Given the description of an element on the screen output the (x, y) to click on. 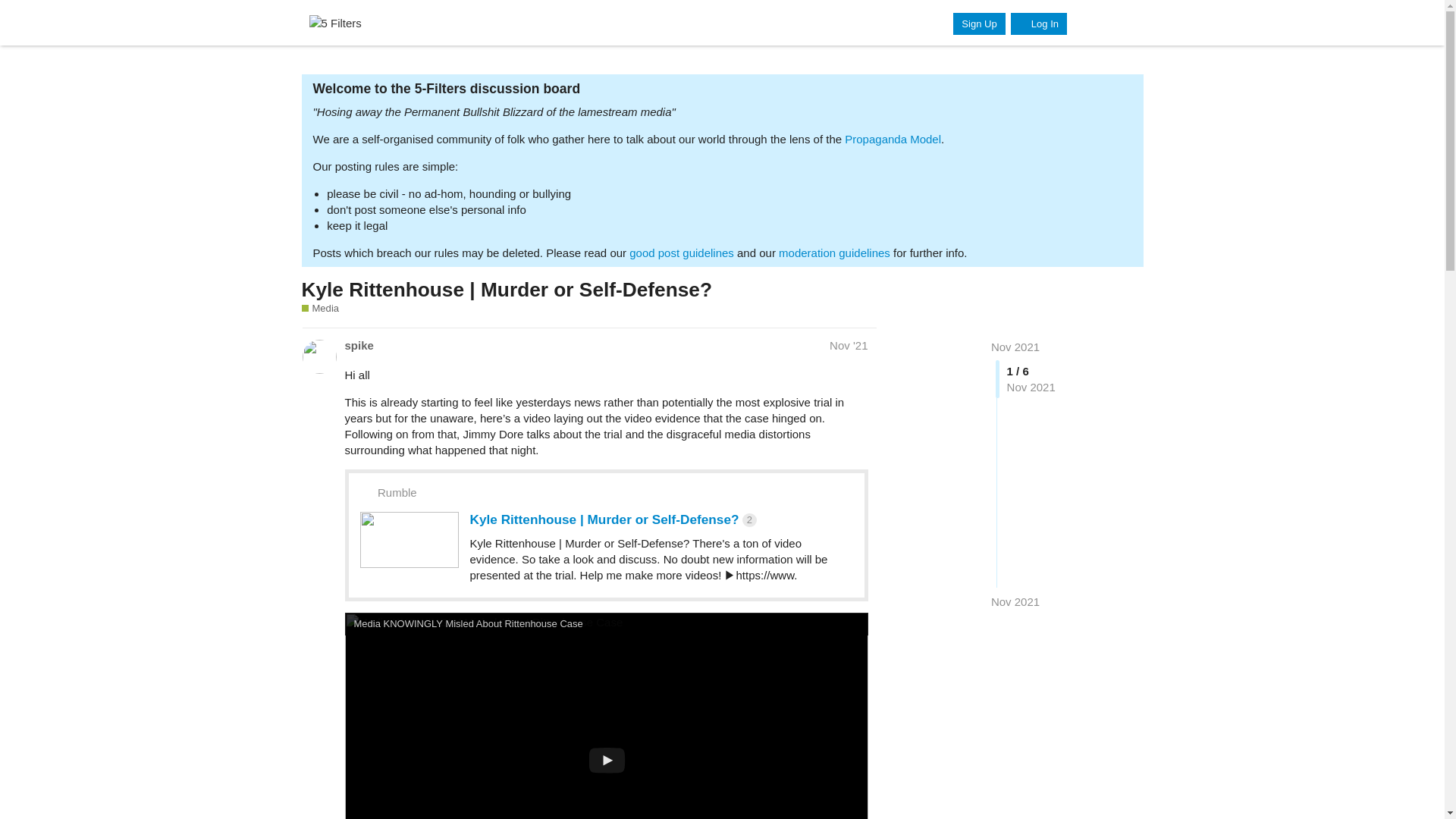
Nov 2021 (1015, 601)
Nov 2021 (1015, 346)
spike (357, 344)
Nov '21 (848, 345)
Media (320, 308)
Log In (1038, 24)
good post guidelines (680, 252)
Nov 2021 (1015, 346)
moderation guidelines (833, 252)
Media KNOWINGLY Misled About Rittenhouse Case (467, 623)
Nov 2021 (1015, 601)
Propaganda Model (892, 138)
Rumble (396, 492)
Search (1086, 22)
Sign Up (978, 24)
